Given the description of an element on the screen output the (x, y) to click on. 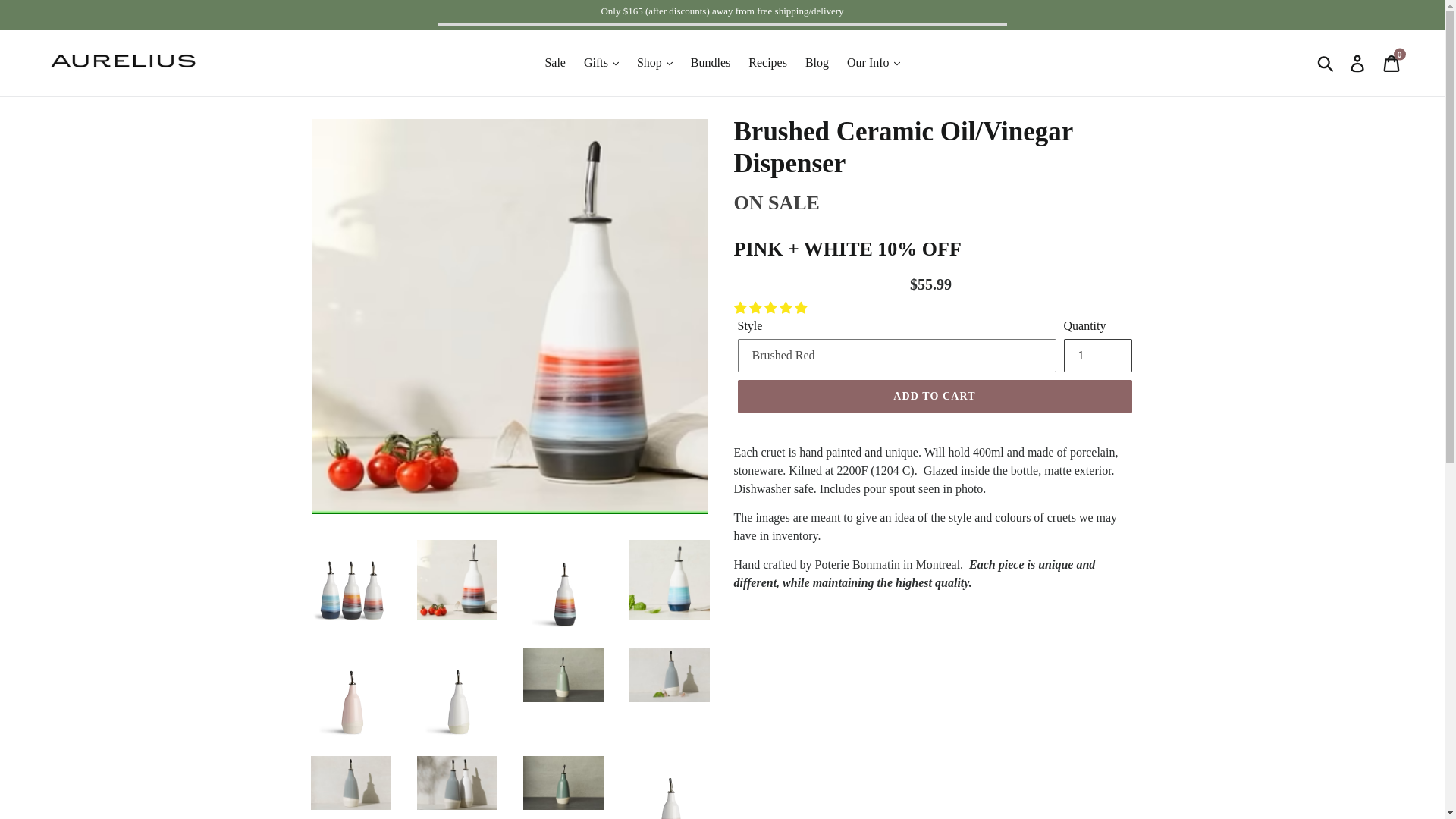
Log in (1392, 62)
1 (1357, 62)
Sale (1096, 355)
Bundles (555, 62)
Recipes (710, 62)
Submit (767, 62)
Blog (1326, 62)
